Given the description of an element on the screen output the (x, y) to click on. 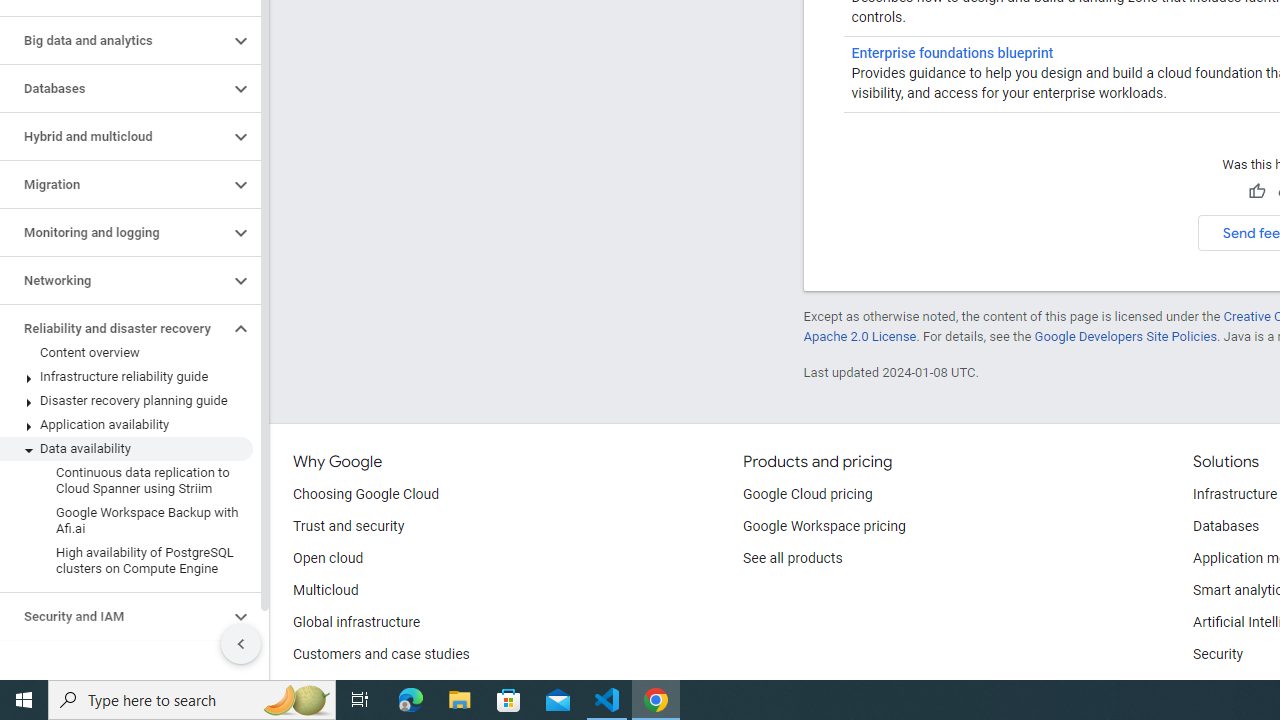
Trust and security (348, 526)
Infrastructure reliability guide (126, 376)
Google Workspace Backup with Afi. ai (126, 520)
Customers and case studies (381, 655)
High availability of PostgreSQL clusters on Compute Engine (126, 560)
Hybrid and multicloud (114, 137)
Security (1218, 655)
Disaster recovery planning guide (126, 400)
Storage (114, 664)
Content overview (126, 353)
Networking (114, 281)
Databases (1225, 526)
Reliability and disaster recovery (114, 328)
Multicloud (325, 590)
